Given the description of an element on the screen output the (x, y) to click on. 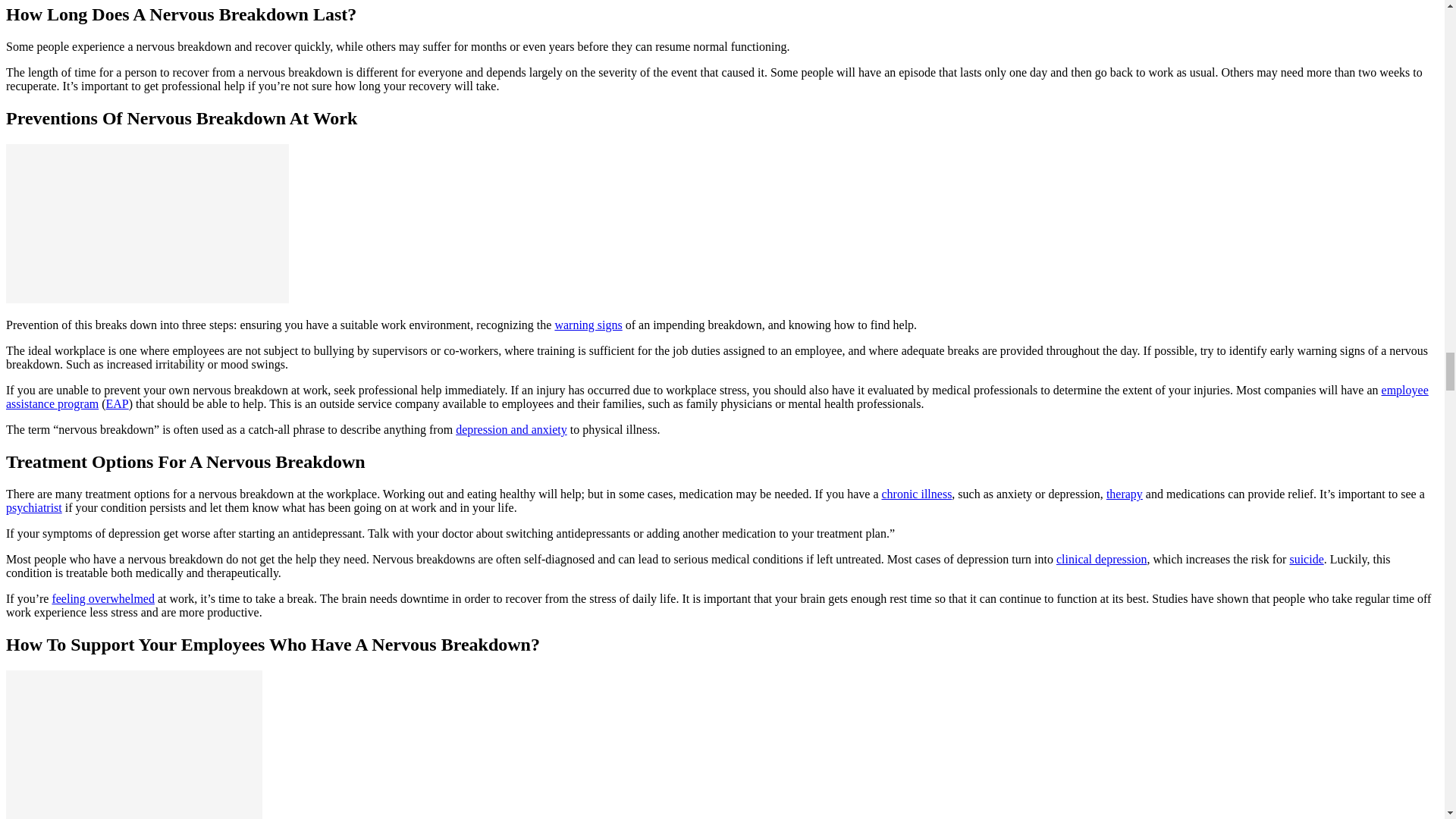
EAP (117, 403)
warning signs (587, 324)
